Given the description of an element on the screen output the (x, y) to click on. 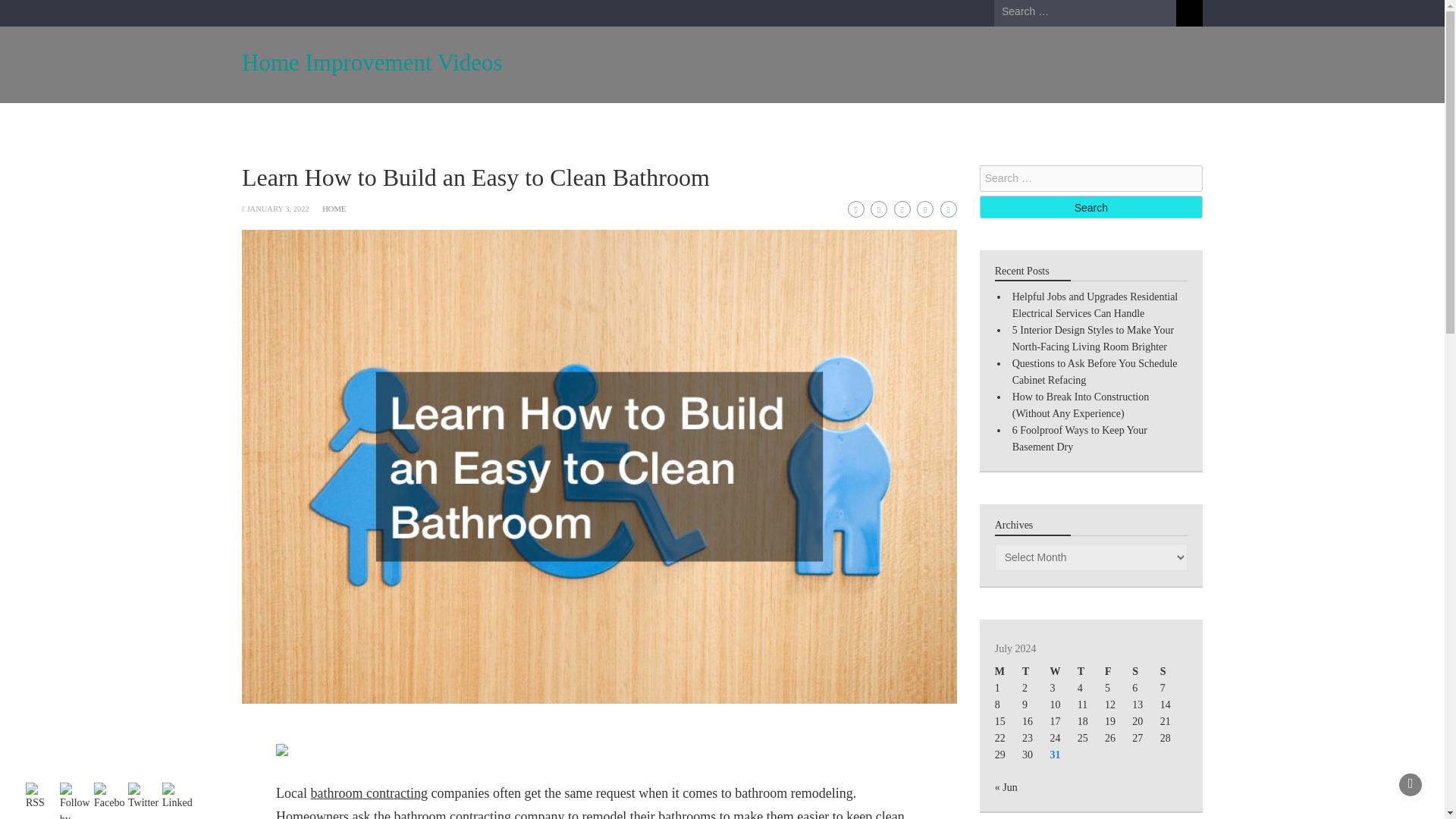
23 (1027, 737)
Facebook (108, 796)
Questions to Ask Before You Schedule Cabinet Refacing (1094, 371)
Monday (1008, 671)
24 (1054, 737)
10 (1054, 704)
Friday (1118, 671)
Search (1090, 206)
Search (1189, 13)
Search (1090, 206)
JANUARY 3, 2022 (277, 208)
Search (1090, 206)
Twitter (143, 796)
Search (1189, 13)
